Given the description of an element on the screen output the (x, y) to click on. 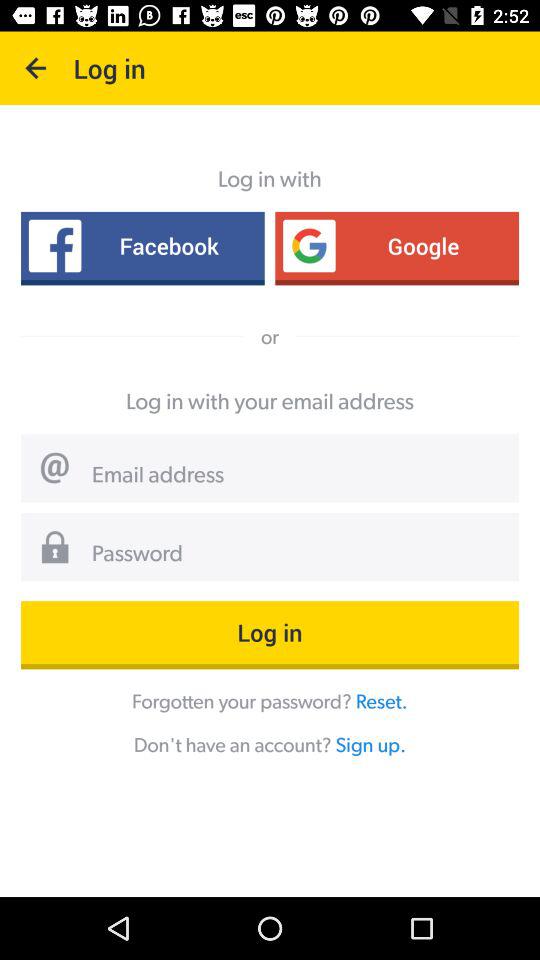
turn off icon next to facebook item (397, 245)
